Given the description of an element on the screen output the (x, y) to click on. 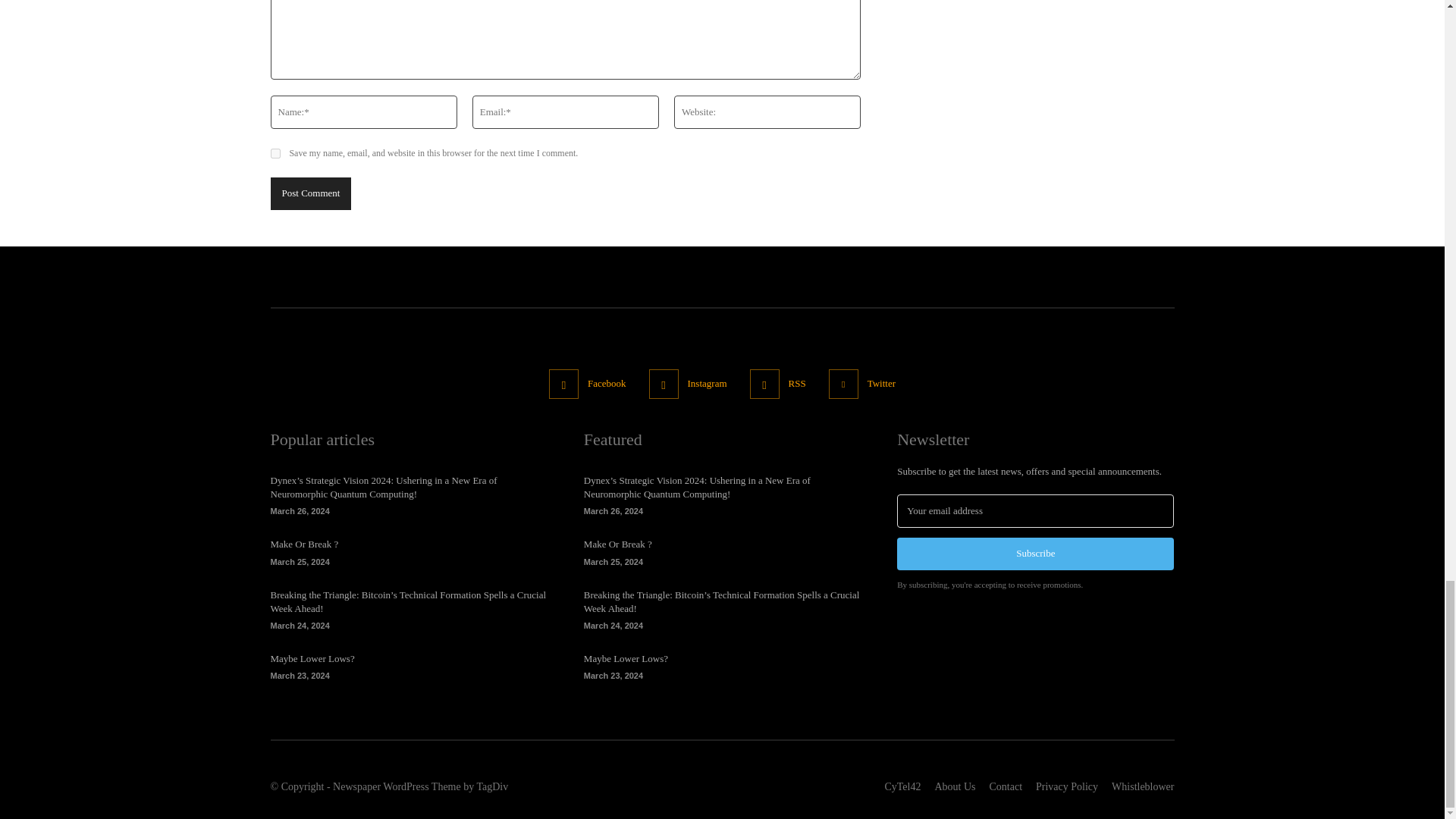
yes (274, 153)
Post Comment (309, 193)
